Given the description of an element on the screen output the (x, y) to click on. 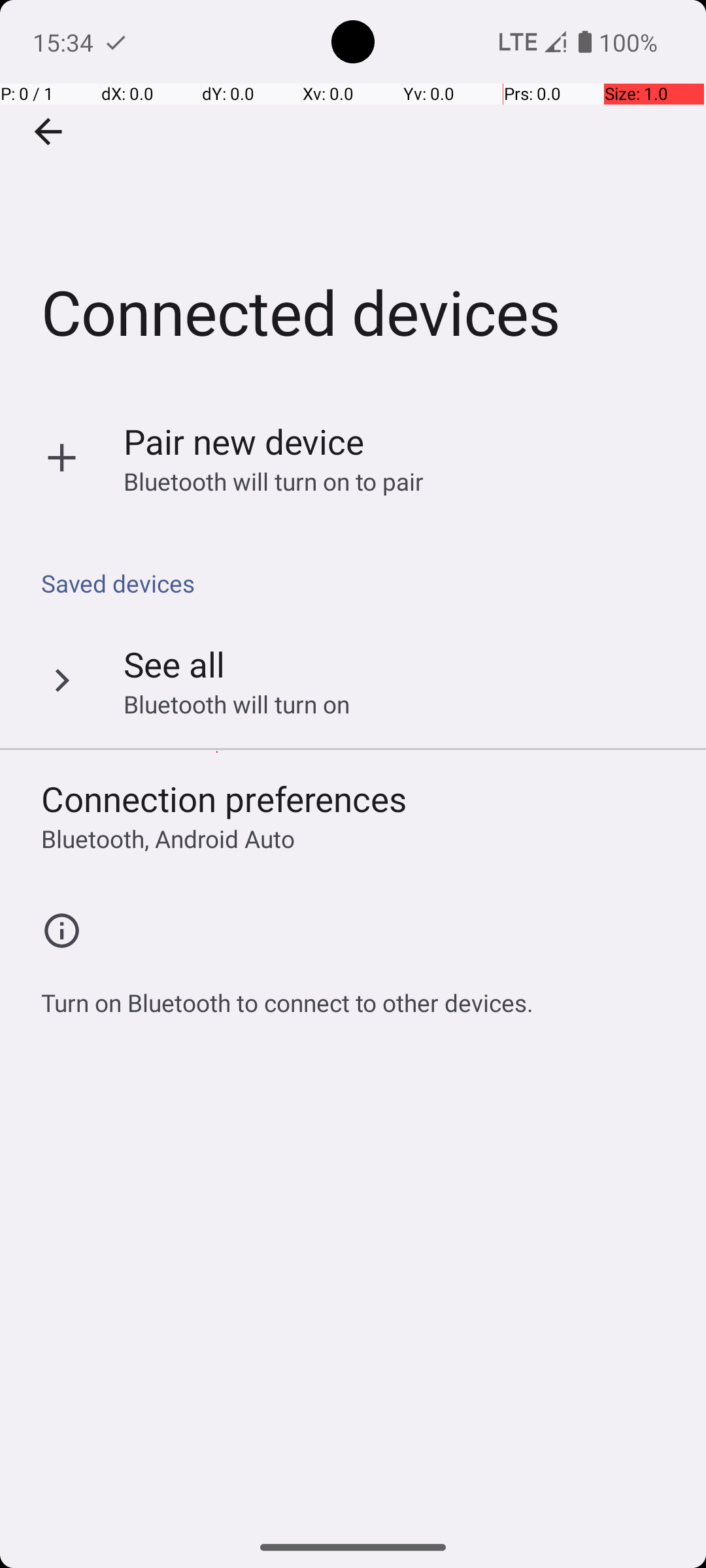
Bluetooth will turn on to pair Element type: android.widget.TextView (273, 480)
See all Element type: android.widget.TextView (173, 663)
Bluetooth will turn on Element type: android.widget.TextView (236, 703)
Bluetooth, Android Auto Element type: android.widget.TextView (167, 838)
Turn on Bluetooth to connect to other devices. Element type: android.widget.TextView (287, 995)
